Given the description of an element on the screen output the (x, y) to click on. 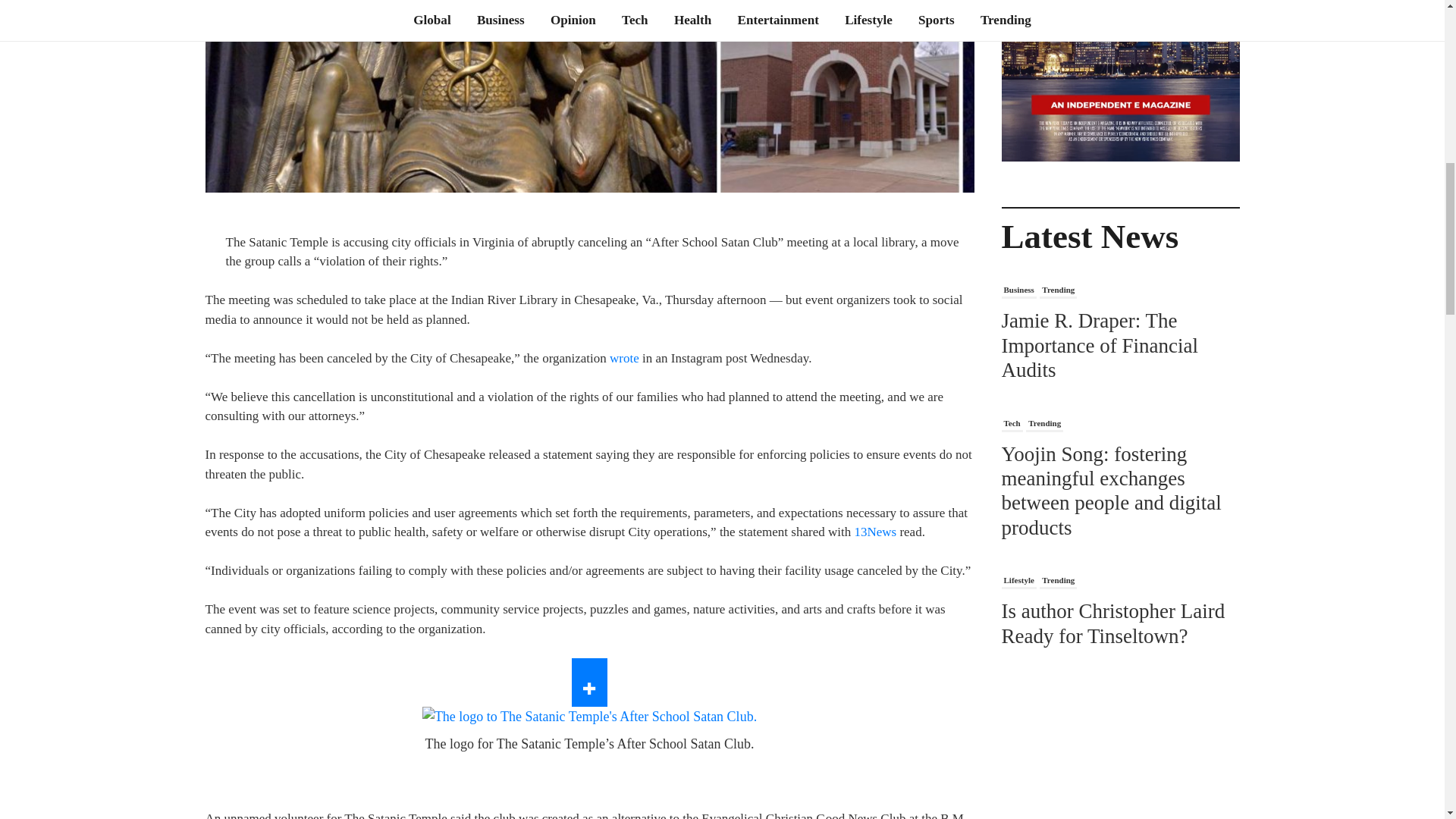
13News (874, 531)
wrote (624, 358)
